Given the description of an element on the screen output the (x, y) to click on. 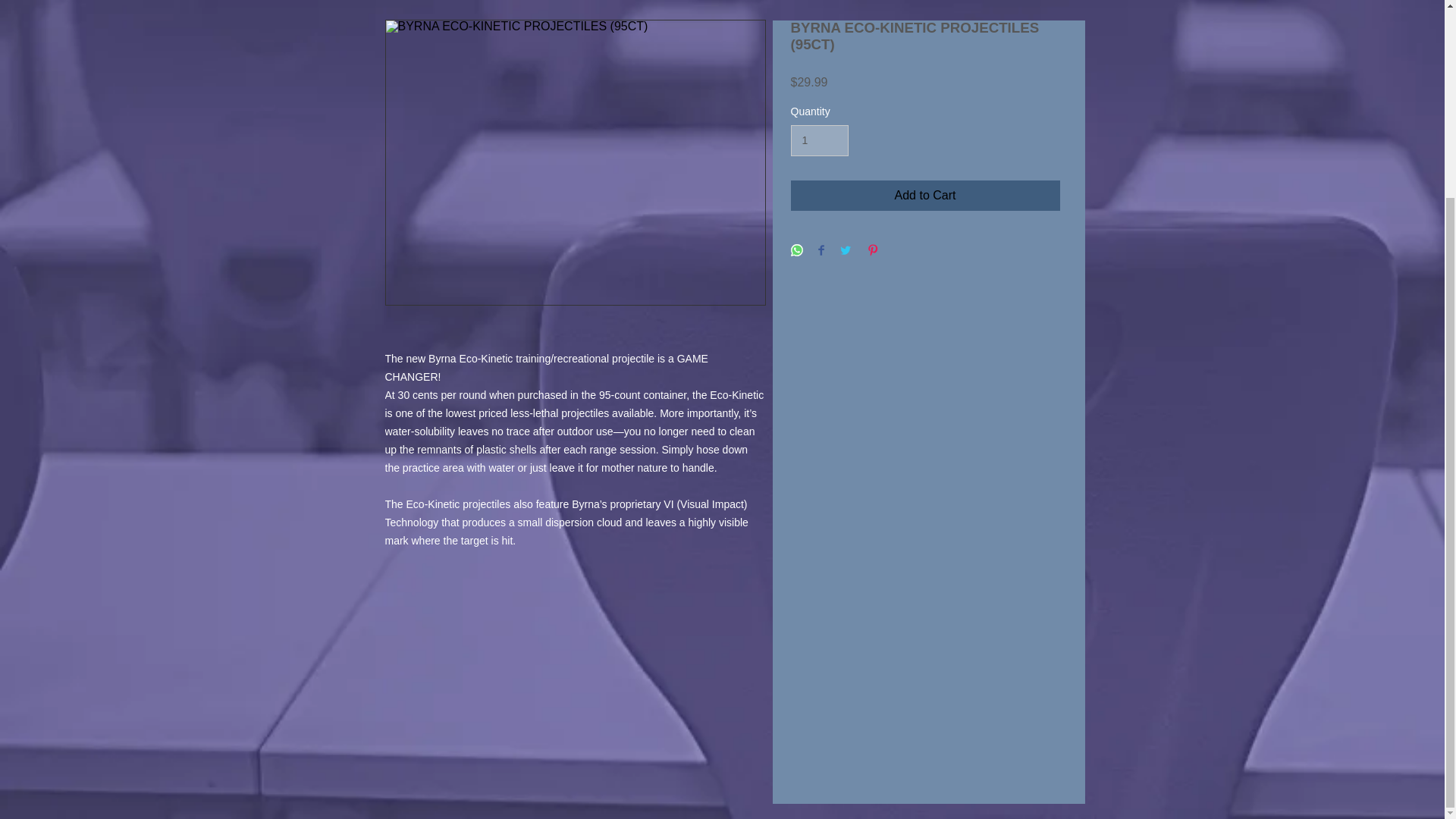
Add to Cart (924, 195)
1 (818, 140)
